Given the description of an element on the screen output the (x, y) to click on. 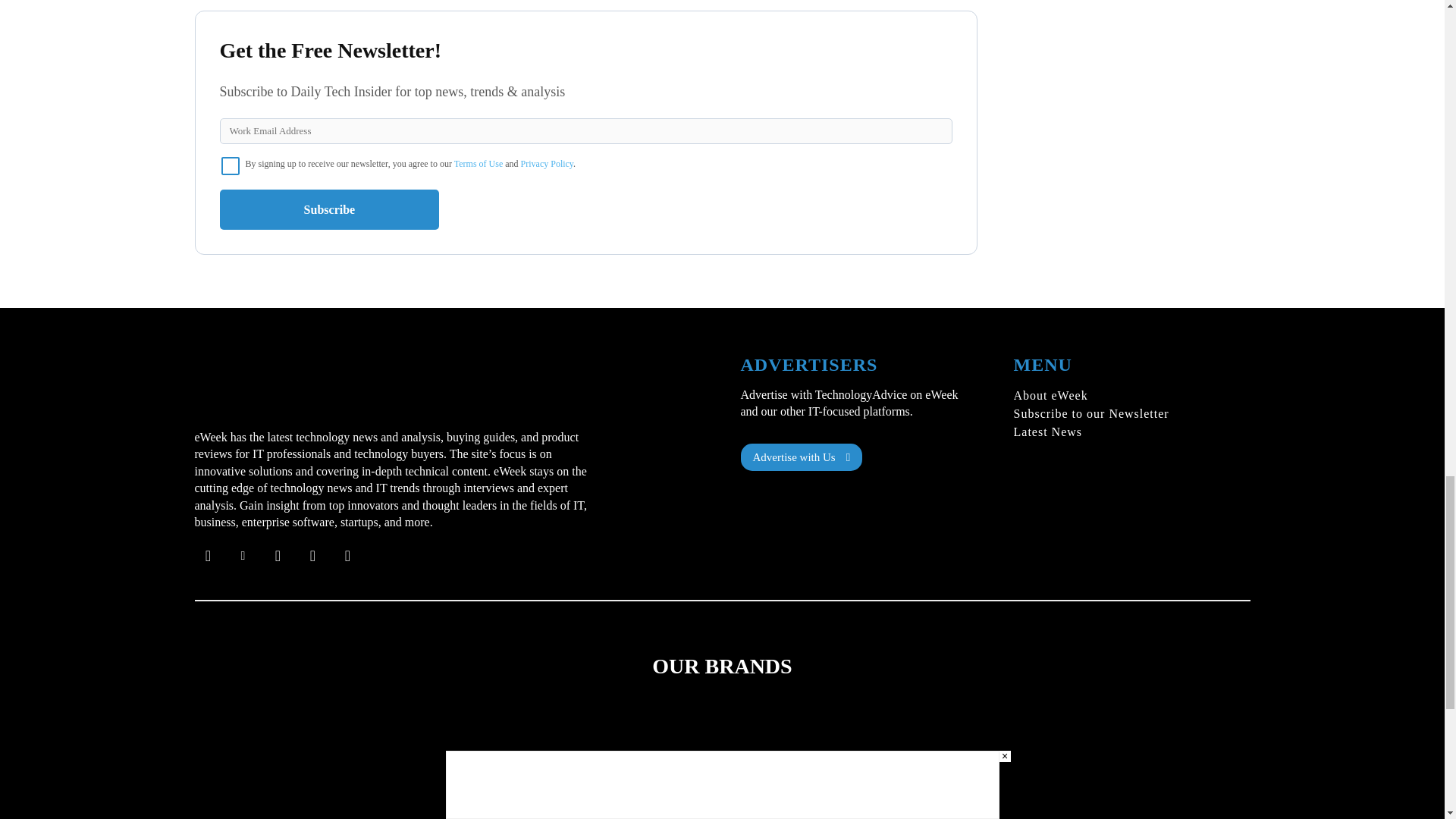
on (230, 166)
